Given the description of an element on the screen output the (x, y) to click on. 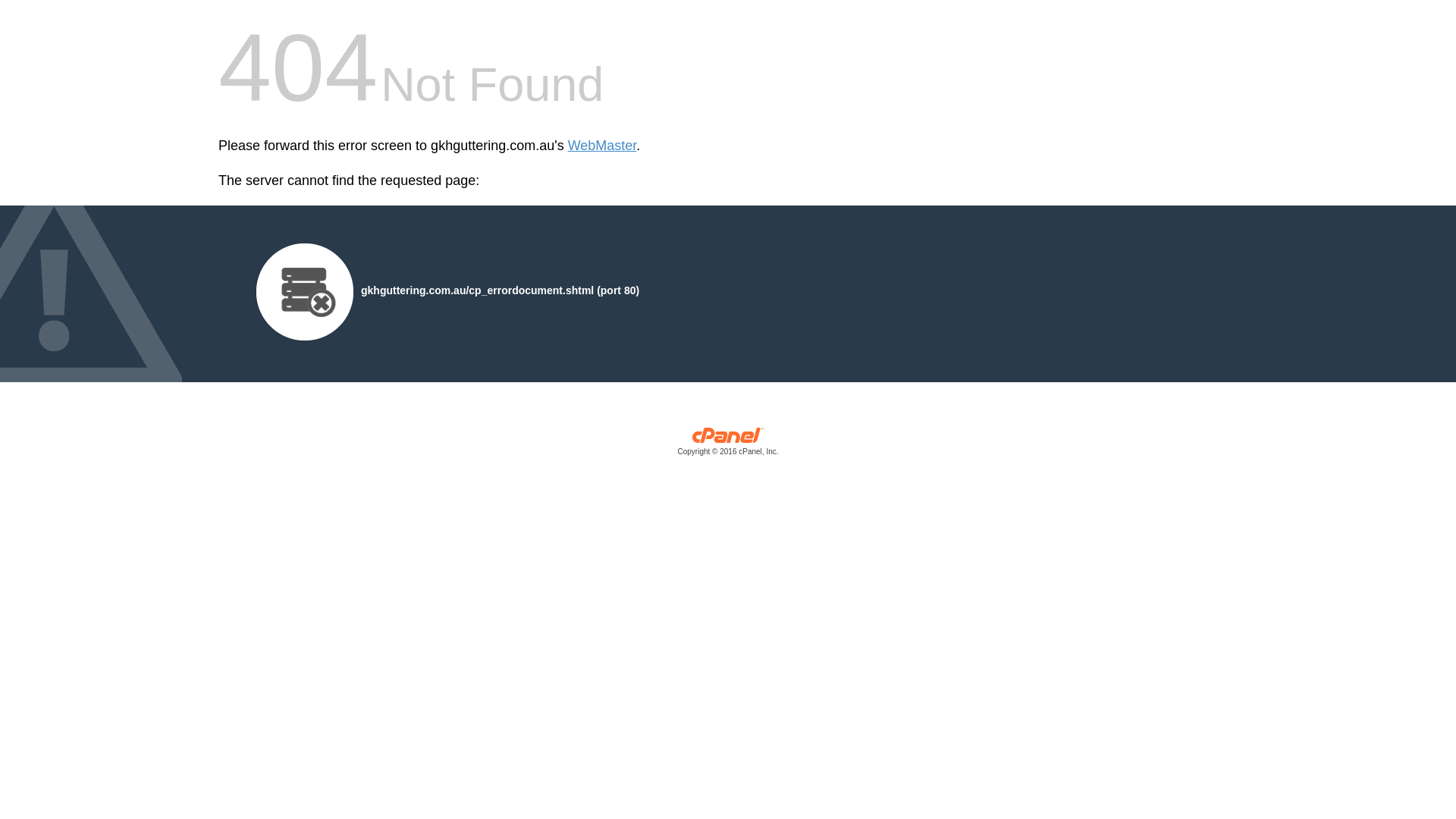
WebMaster Element type: text (602, 145)
